Given the description of an element on the screen output the (x, y) to click on. 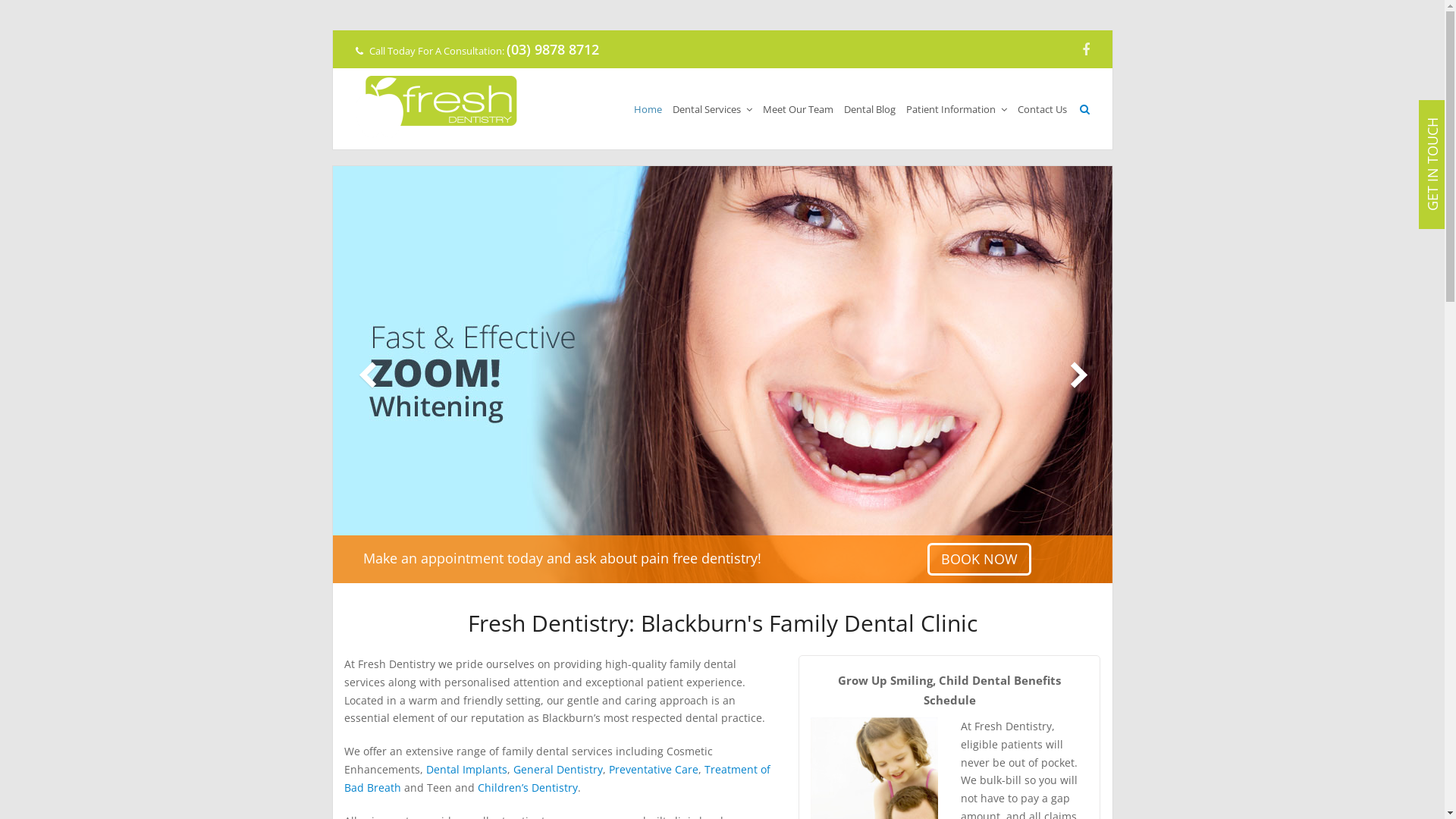
General Dentistry Element type: text (557, 769)
Meet Our Team Element type: text (796, 108)
Dental Implants Element type: text (466, 769)
Home Element type: text (646, 108)
Facebook Element type: hover (1084, 49)
(03) 9878 8712 Element type: text (552, 49)
BOOK NOW Element type: text (979, 558)
Dental Services Element type: text (712, 108)
Treatment of Bad Breath Element type: text (557, 778)
Contact Us Element type: text (1041, 108)
Dental Blog Element type: text (869, 108)
Preventative Care Element type: text (652, 769)
Patient Information Element type: text (956, 108)
Fresh Dentistry Element type: hover (435, 106)
